Given the description of an element on the screen output the (x, y) to click on. 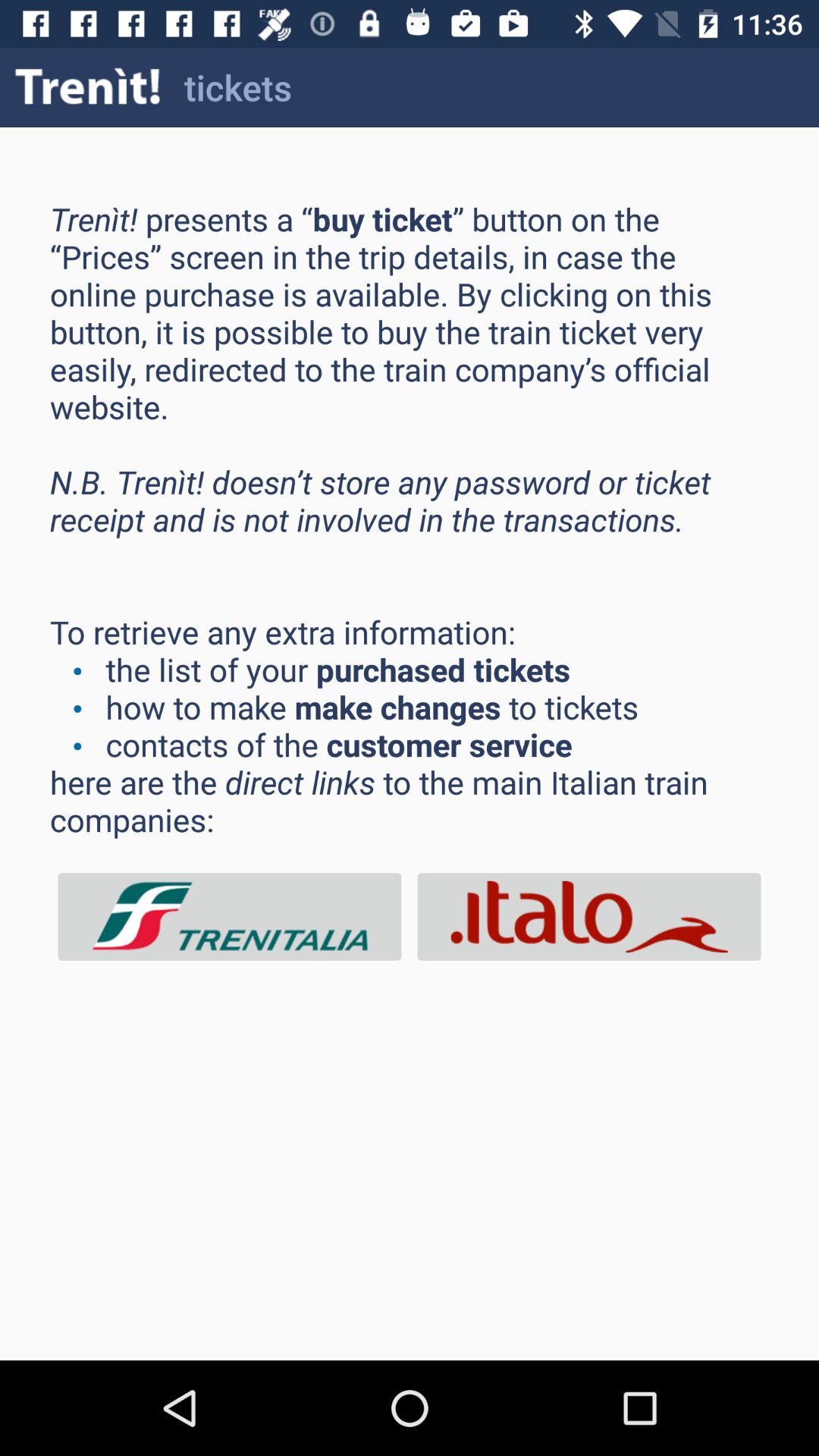
turn off the icon to the left of tickets item (88, 87)
